Given the description of an element on the screen output the (x, y) to click on. 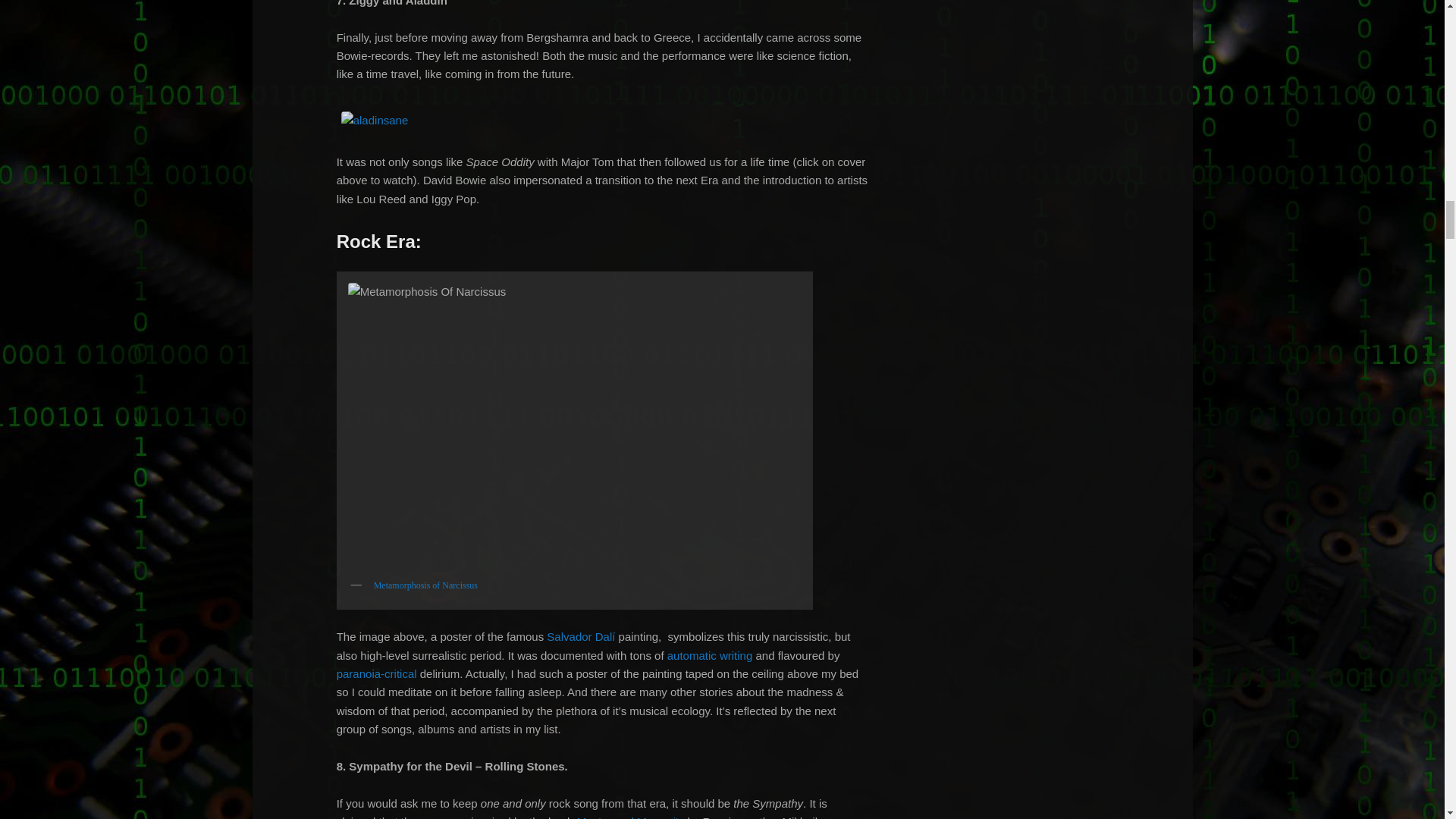
Metamorphosis of Narcissus (425, 584)
paranoia-critical (376, 673)
automatic writing (709, 655)
Master and Margarita (630, 816)
